Given the description of an element on the screen output the (x, y) to click on. 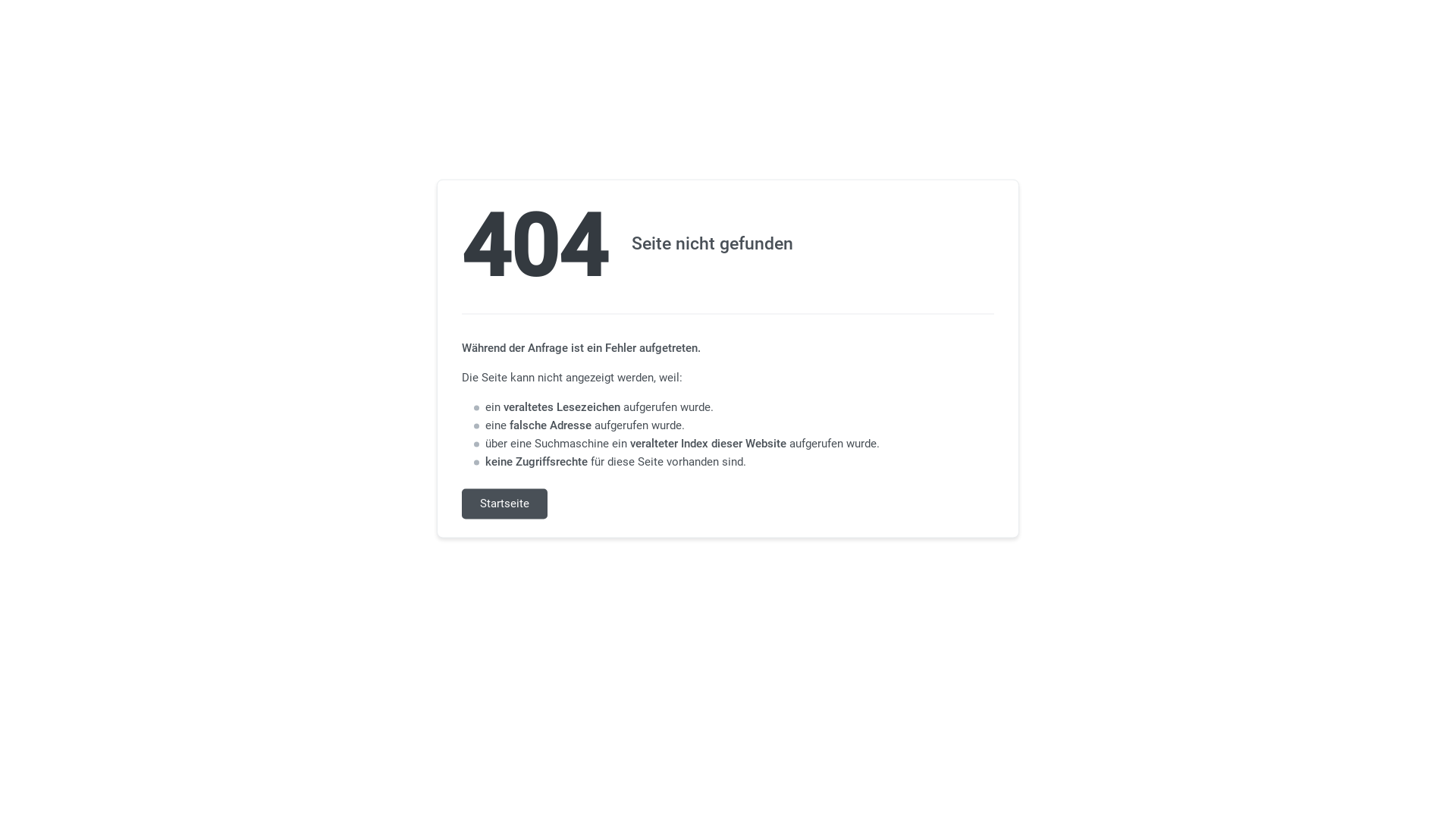
Startseite Element type: text (504, 503)
